Given the description of an element on the screen output the (x, y) to click on. 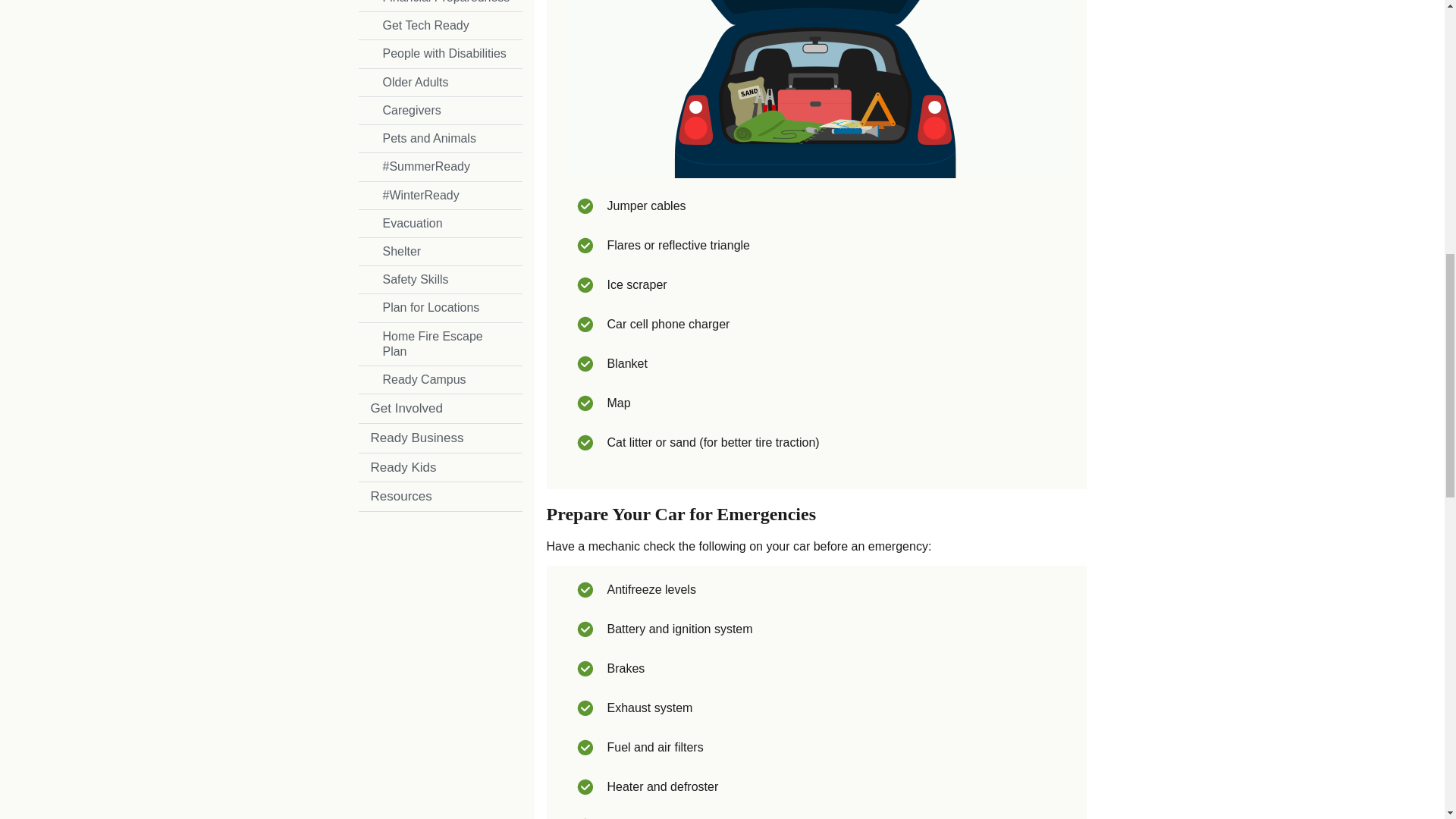
Ready Campus (439, 379)
Pets and Animals (439, 138)
Evacuation (439, 223)
People with Disabilities (439, 53)
Home Fire Escape Plan (439, 343)
Older Adults (439, 82)
Shelter (439, 251)
Get Involved (439, 408)
Caregivers (439, 110)
Safety Skills (439, 279)
Get Tech Ready (439, 25)
Plan for Locations (439, 307)
Financial Preparedness (439, 5)
